Given the description of an element on the screen output the (x, y) to click on. 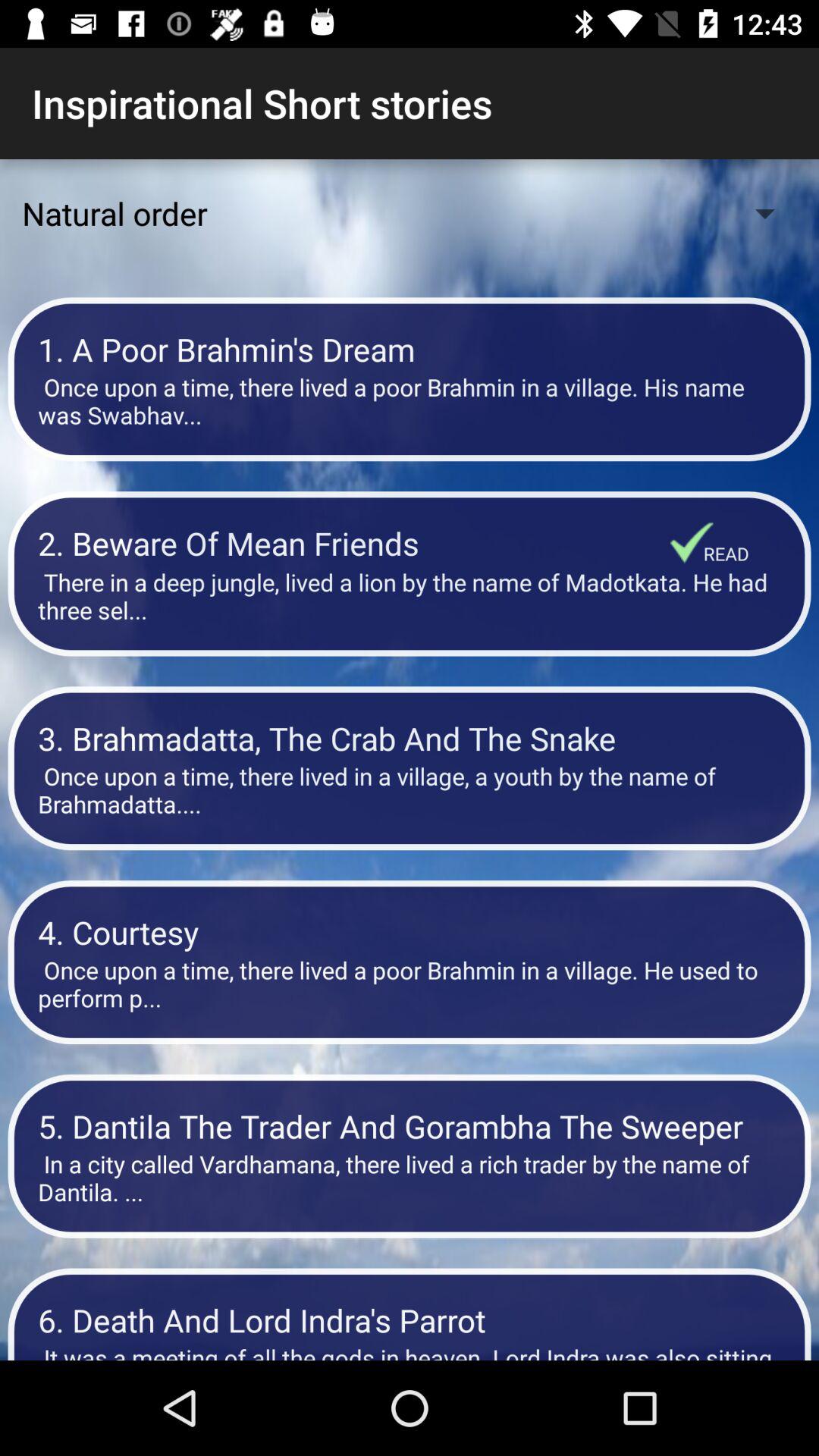
choose item above the it was a (409, 1319)
